Given the description of an element on the screen output the (x, y) to click on. 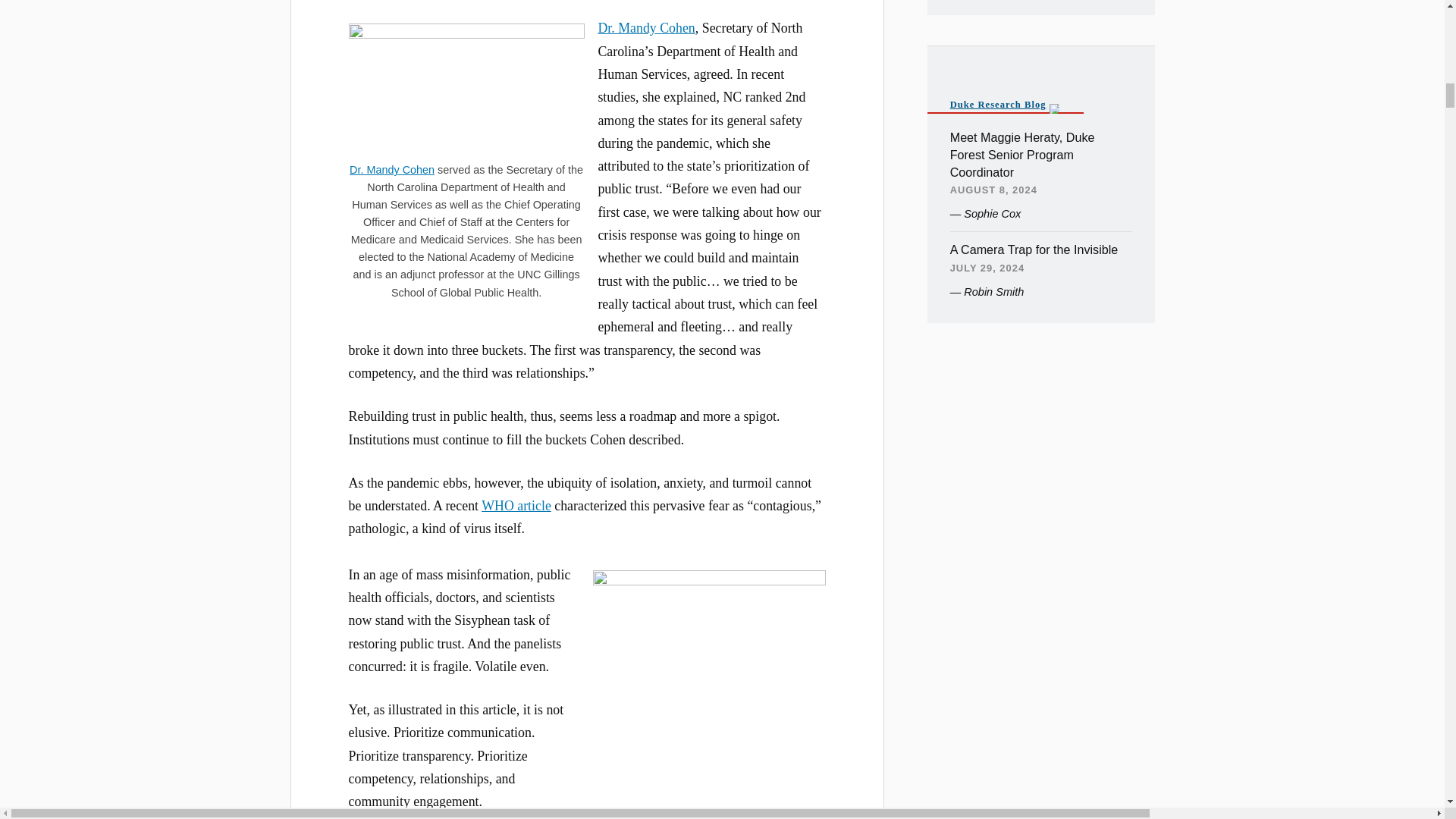
political cartoon (676, 815)
WHO article (516, 505)
Dr. Mandy Cohen (645, 28)
Dr. Mandy Cohen (391, 169)
